Given the description of an element on the screen output the (x, y) to click on. 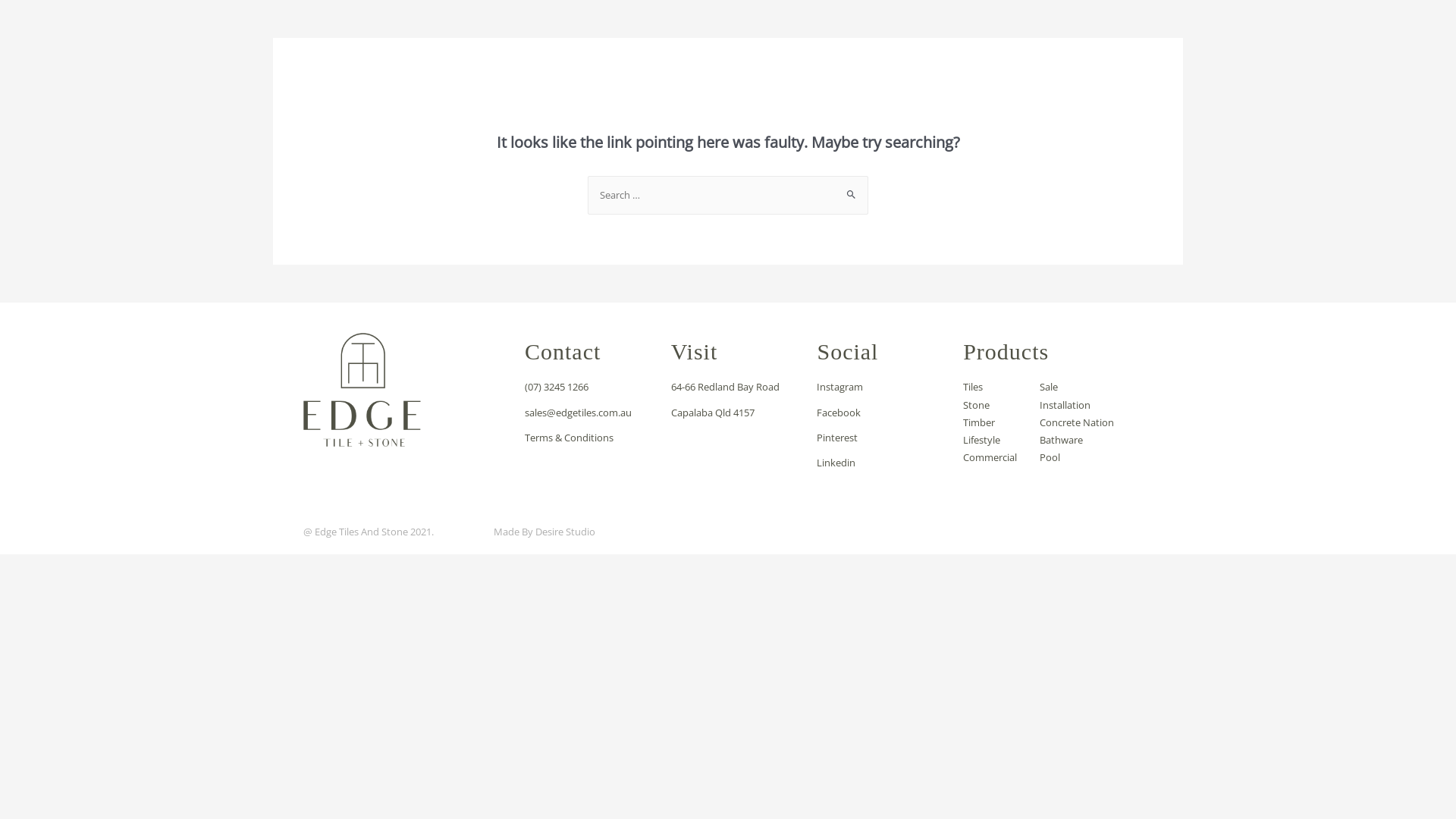
Terms & Conditions Element type: text (589, 437)
Lifestyle Element type: text (989, 439)
Concrete Nation Element type: text (1076, 422)
Made By Desire Studio Element type: text (544, 531)
Stone Element type: text (989, 405)
Commercial Element type: text (989, 457)
Pinterest Element type: text (881, 437)
Search Element type: text (851, 190)
Sale Element type: text (1076, 386)
(07) 3245 1266 Element type: text (589, 386)
Linkedin Element type: text (881, 462)
Installation Element type: text (1076, 405)
Facebook Element type: text (881, 412)
Tiles Element type: text (989, 386)
sales@edgetiles.com.au Element type: text (589, 412)
Pool Element type: text (1076, 457)
Bathware Element type: text (1076, 439)
Timber Element type: text (989, 422)
Instagram Element type: text (881, 386)
